Given the description of an element on the screen output the (x, y) to click on. 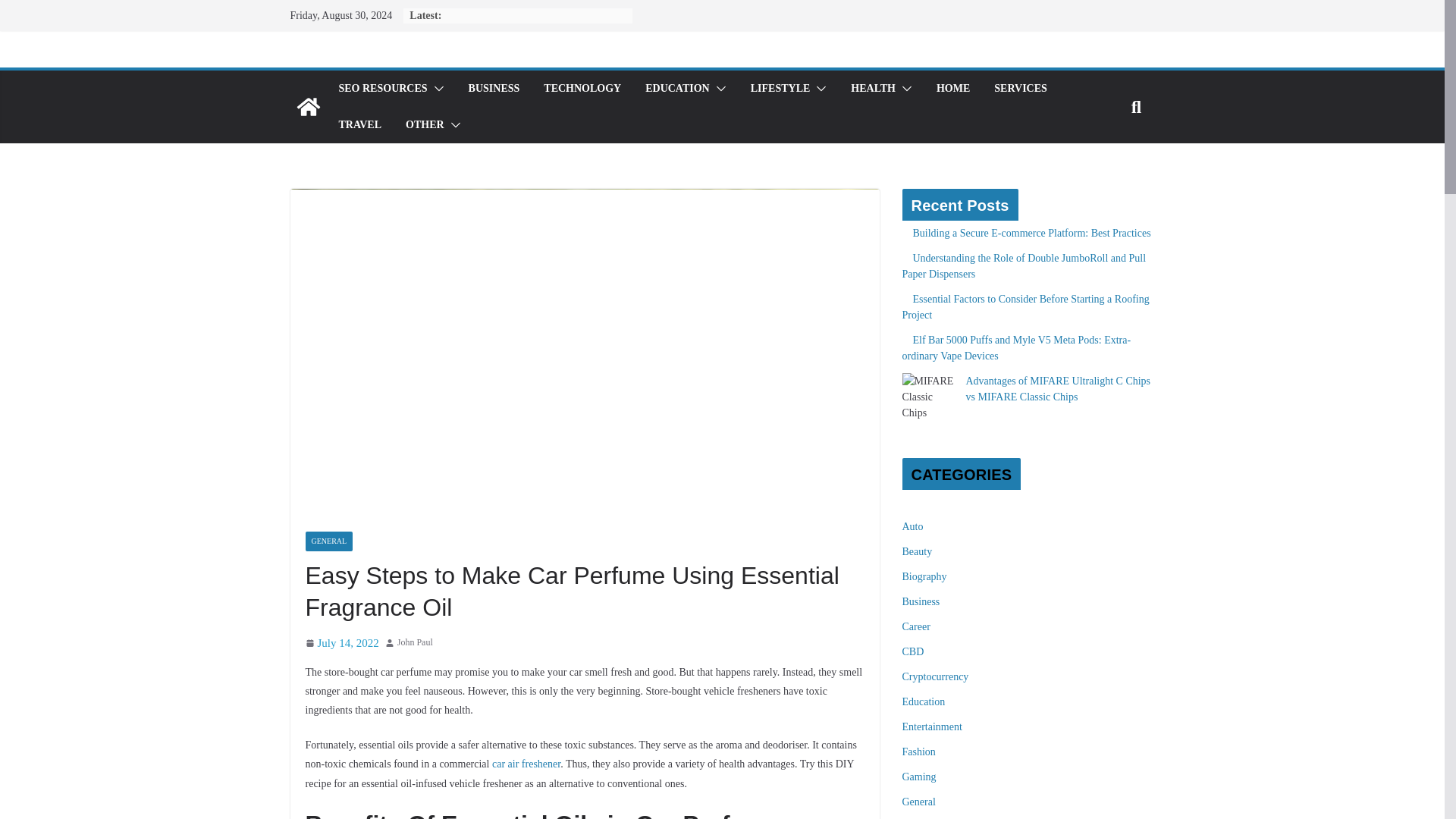
car air freshener (526, 763)
GENERAL (328, 541)
EDUCATION (677, 88)
OTHER (425, 124)
Building a Secure E-commerce Platform: Best Practices (1031, 233)
John Paul (414, 642)
BUSINESS (493, 88)
TRAVEL (359, 124)
July 14, 2022 (341, 643)
SERVICES (1020, 88)
